Given the description of an element on the screen output the (x, y) to click on. 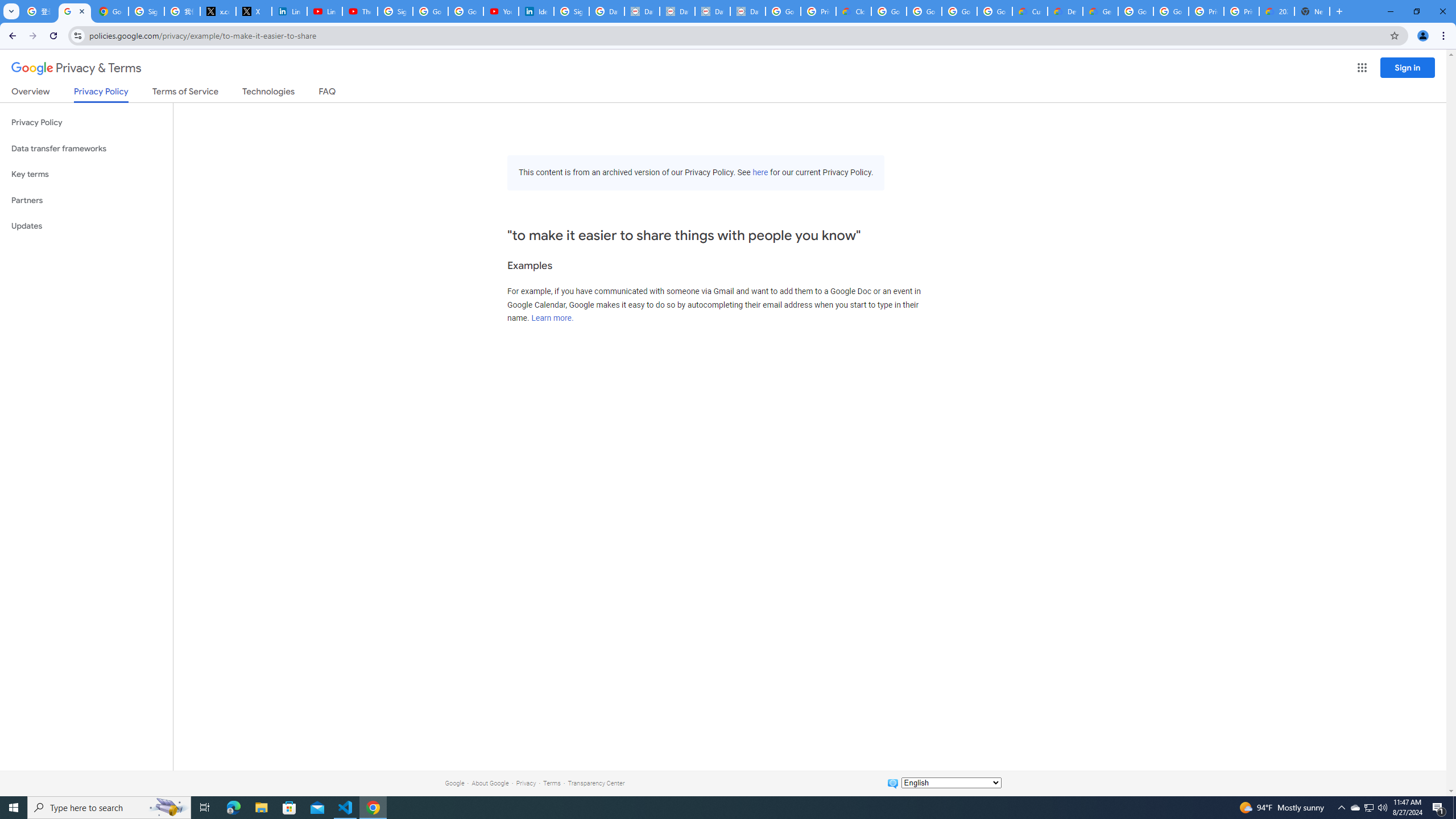
Transparency Center (595, 783)
Google Workspace - Specific Terms (994, 11)
Partners (86, 199)
FAQ (327, 93)
Sign in - Google Accounts (145, 11)
Technologies (268, 93)
Updates (86, 225)
Data Privacy Framework (677, 11)
Google Cloud Platform (1170, 11)
